Given the description of an element on the screen output the (x, y) to click on. 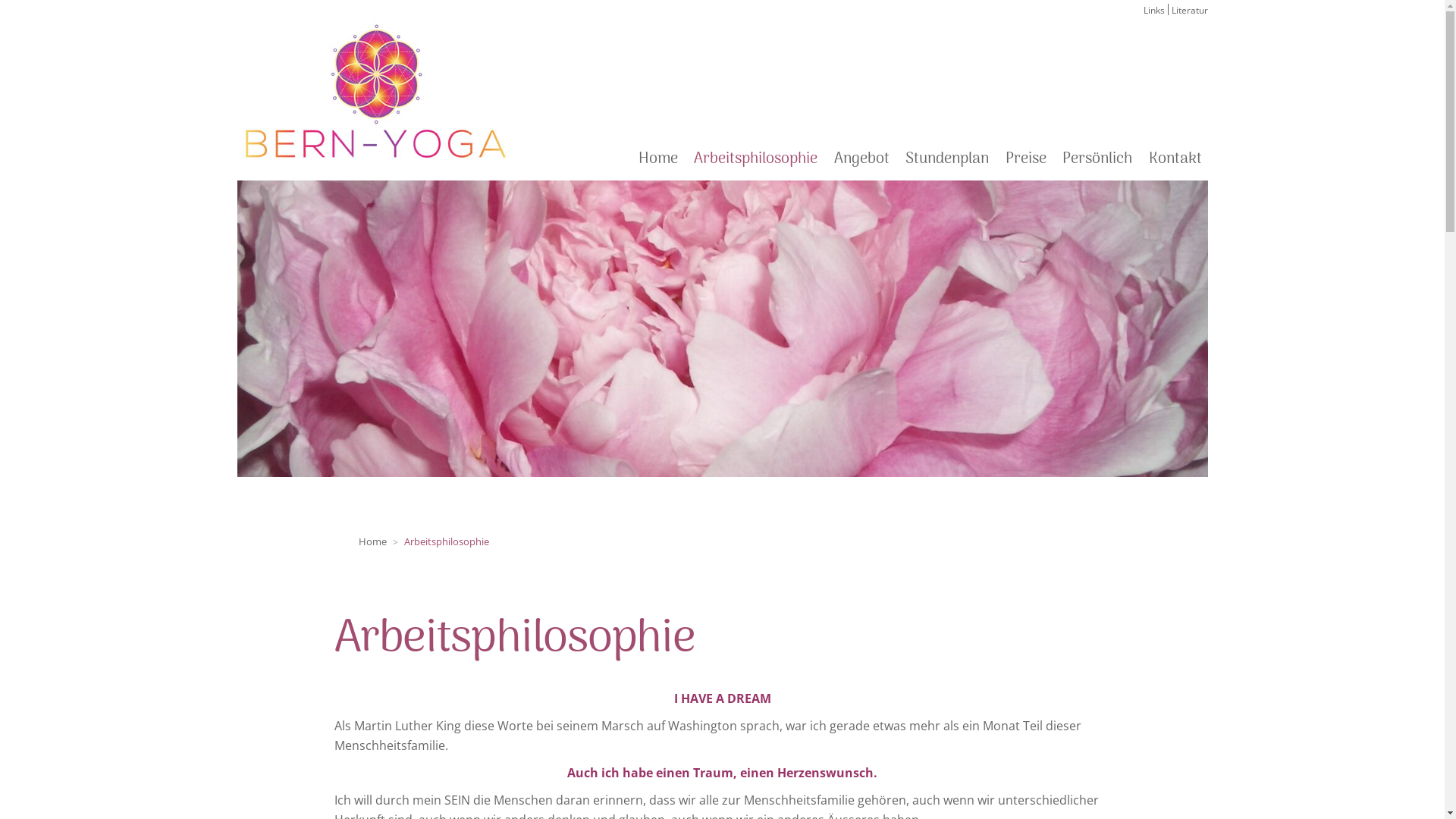
Preise Element type: text (1025, 159)
Home Element type: text (372, 541)
Kontakt Element type: text (1174, 159)
Arbeitsphilosophie Element type: text (446, 541)
Angebot Element type: text (861, 159)
Stundenplan Element type: text (946, 159)
Home Element type: text (657, 159)
Literatur Element type: text (1188, 9)
Links Element type: text (1153, 9)
Arbeitsphilosophie Element type: text (755, 159)
